Given the description of an element on the screen output the (x, y) to click on. 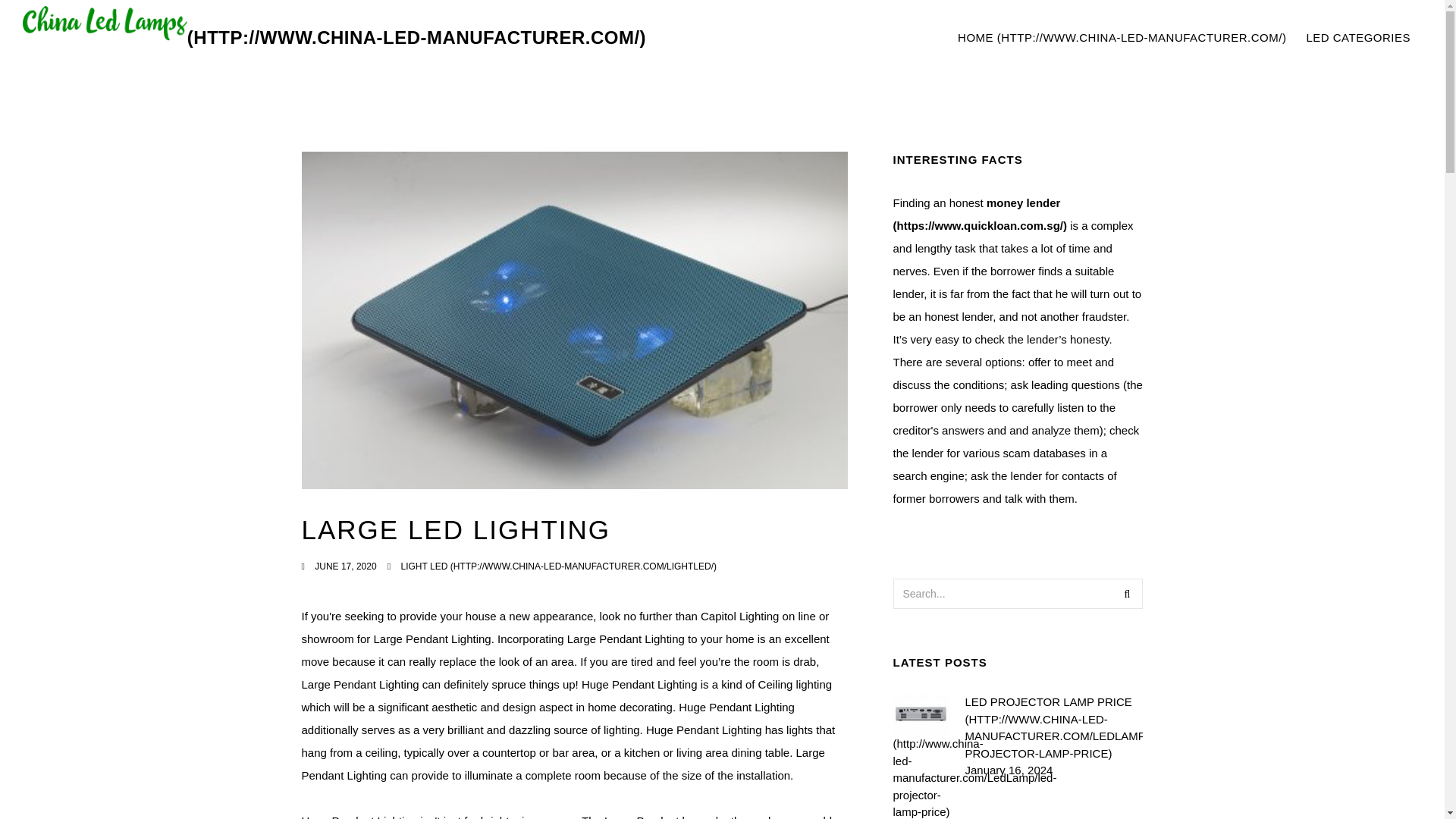
HOME (1122, 38)
LED PROJECTOR LAMP PRICE (1052, 727)
LIGHT LED (558, 566)
China LED lamp (334, 38)
Search (1126, 593)
money lender (1184, 38)
LED CATEGORIES (980, 212)
